Given the description of an element on the screen output the (x, y) to click on. 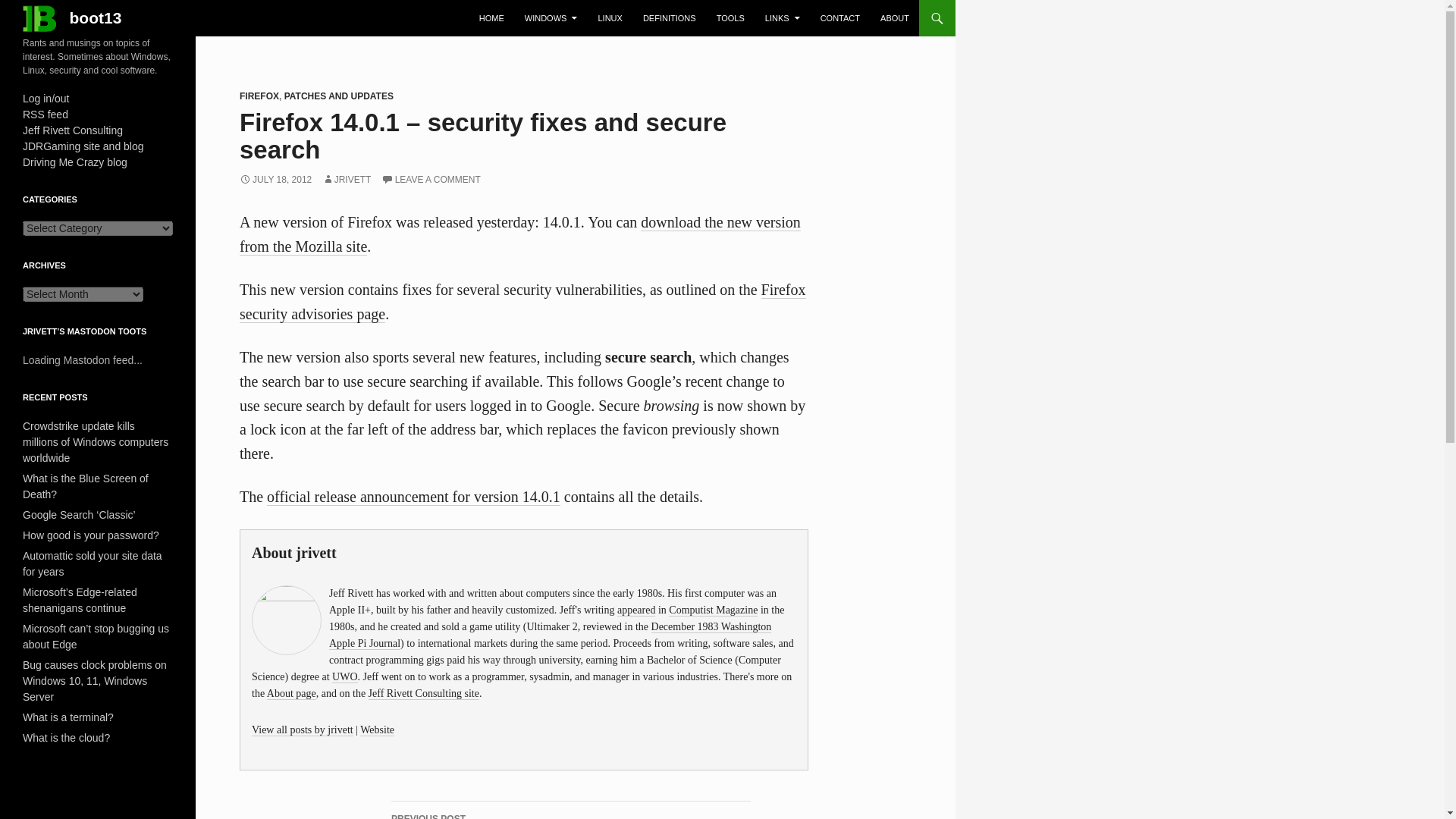
JRIVETT (346, 179)
DEFINITIONS (668, 18)
LINKS (782, 18)
Website (376, 729)
official release announcement for version 14.0.1 (413, 497)
WINDOWS (550, 18)
Firefox security advisories page (523, 301)
HOME (491, 18)
Jeff Rivett Consulting site (423, 693)
   boot13 (71, 18)
